Given the description of an element on the screen output the (x, y) to click on. 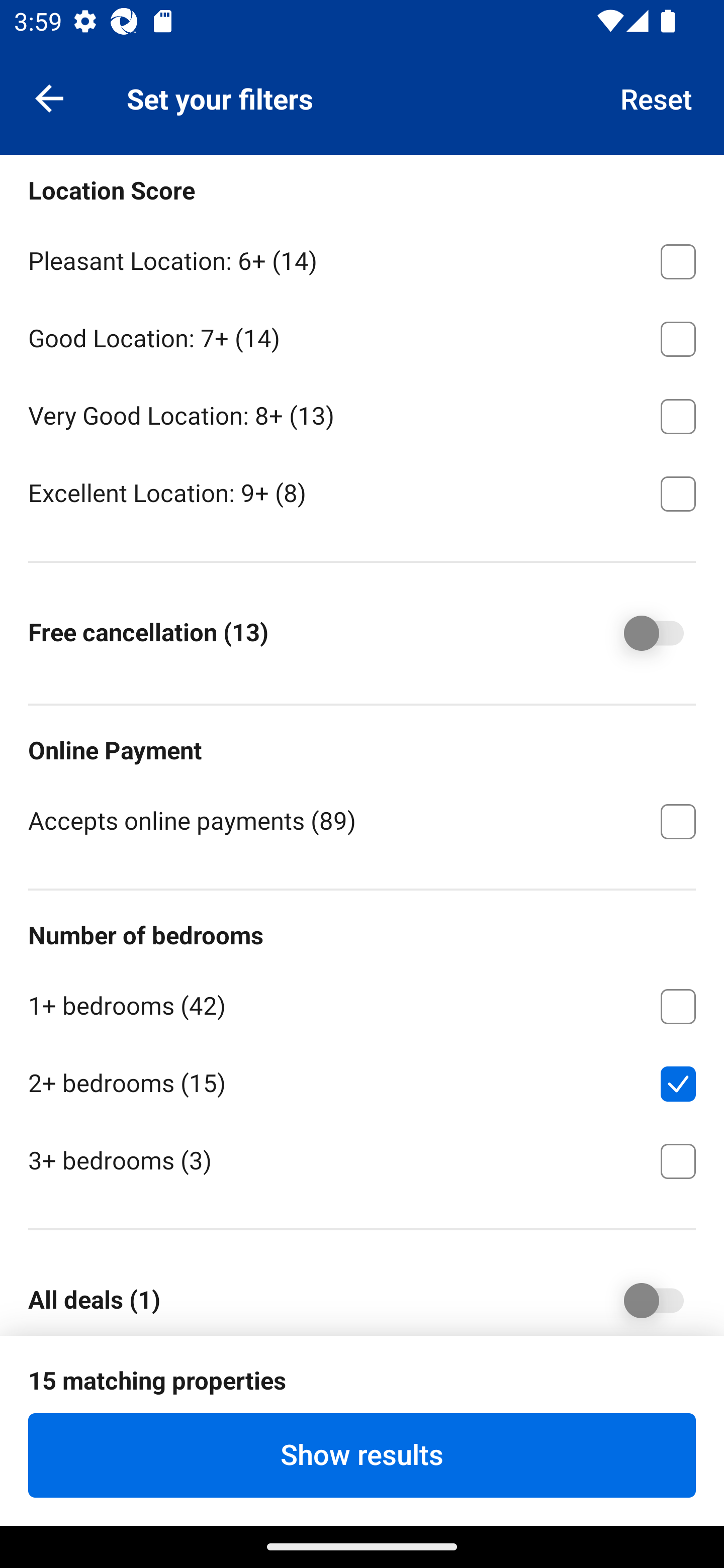
Navigate up (49, 97)
Reset (656, 97)
Pleasant Location: 6+ ⁦(14) (361, 257)
Good Location: 7+ ⁦(14) (361, 335)
Very Good Location: 8+ ⁦(13) (361, 412)
Excellent Location: 9+ ⁦(8) (361, 492)
Free cancellation ⁦(13) (639, 633)
Accepts online payments ⁦(89) (361, 819)
1+ bedrooms ⁦(42) (361, 1002)
2+ bedrooms ⁦(15) (361, 1080)
3+ bedrooms ⁦(3) (361, 1159)
All deals ⁦(1) (639, 1297)
Show results (361, 1454)
